Given the description of an element on the screen output the (x, y) to click on. 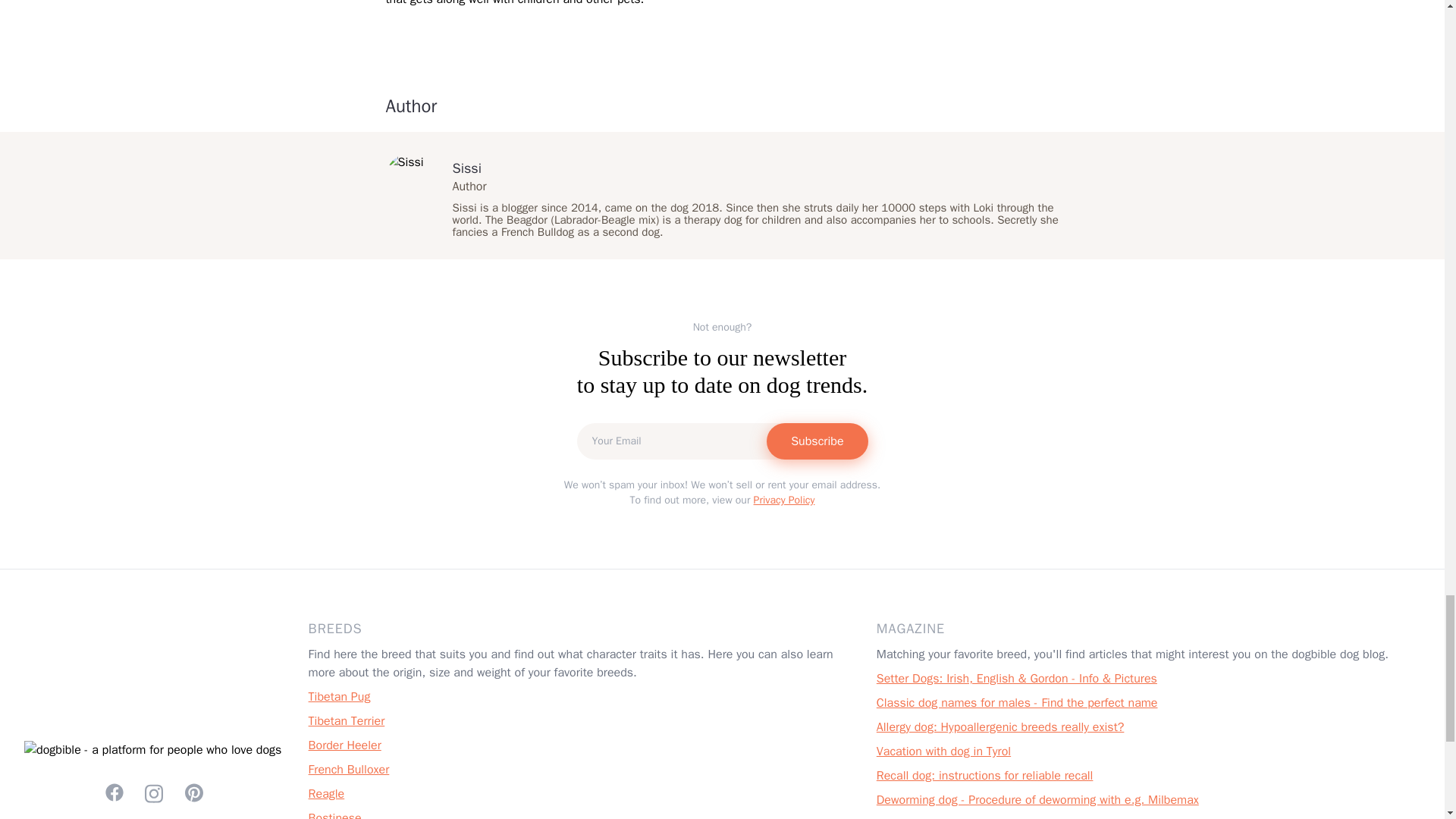
French Bulloxer (349, 769)
Tibetan Terrier (346, 720)
Border Heeler (344, 744)
Subscribe (817, 441)
Classic dog names for males - Find the perfect name (1016, 702)
Deworming dog - Procedure of deworming with e.g. Milbemax (1037, 799)
Reagle (326, 793)
Allergy dog: Hypoallergenic breeds really exist? (1000, 726)
Vacation with dog in Tyrol (943, 751)
Tibetan Pug (339, 696)
Recall dog: instructions for reliable recall (984, 775)
Bostinese (334, 814)
Privacy Policy (784, 499)
